Given the description of an element on the screen output the (x, y) to click on. 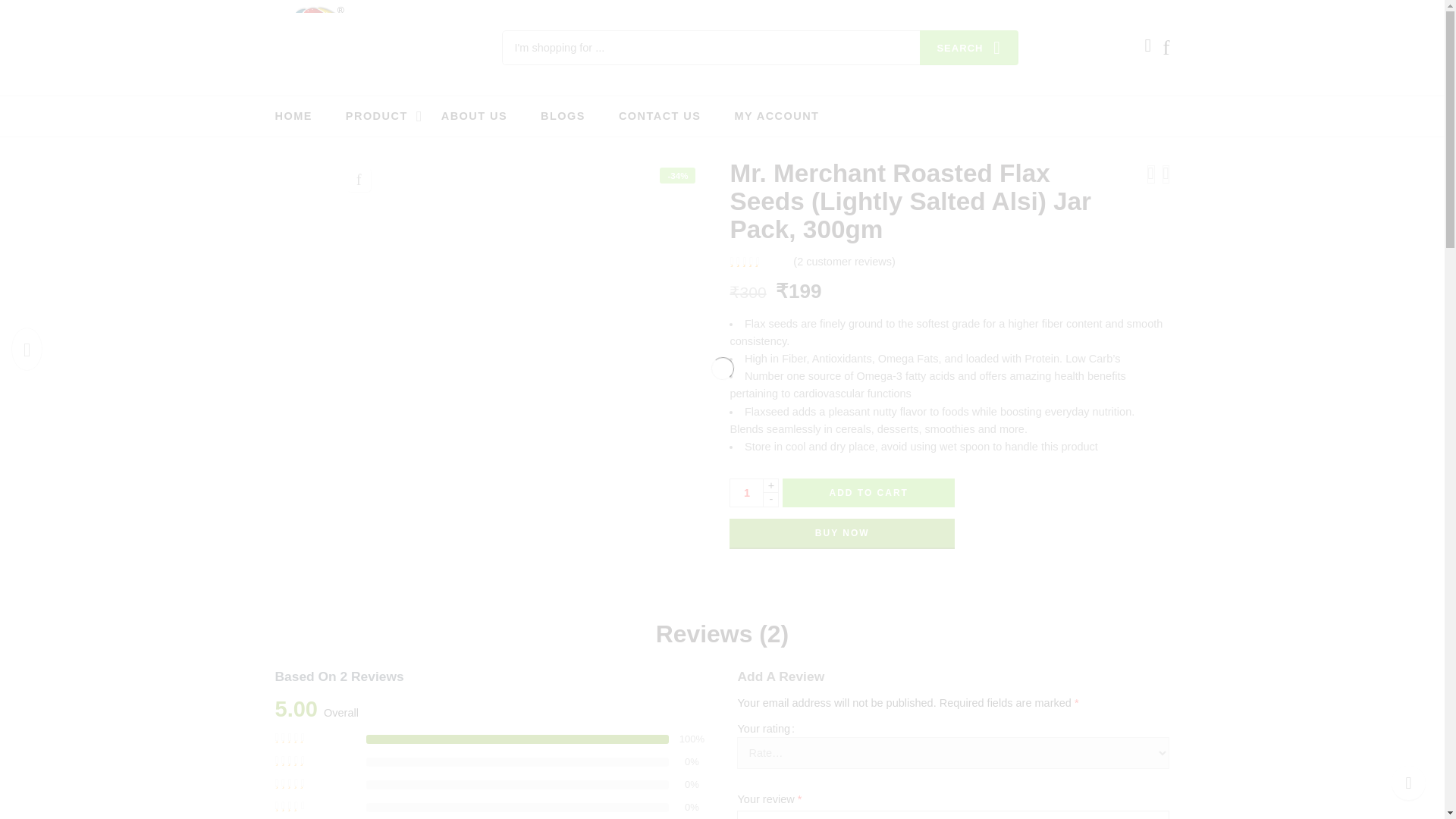
PRODUCT (376, 116)
CONTACT US (659, 116)
1 (745, 492)
MY ACCOUNT (775, 116)
ABOUT US (473, 116)
Mr. Merchant - Unique Treats for Your Unique Taste (317, 47)
BLOGS (562, 116)
HOME (293, 116)
PRODUCT (376, 116)
SEARCH (968, 47)
HOME (293, 116)
